Given the description of an element on the screen output the (x, y) to click on. 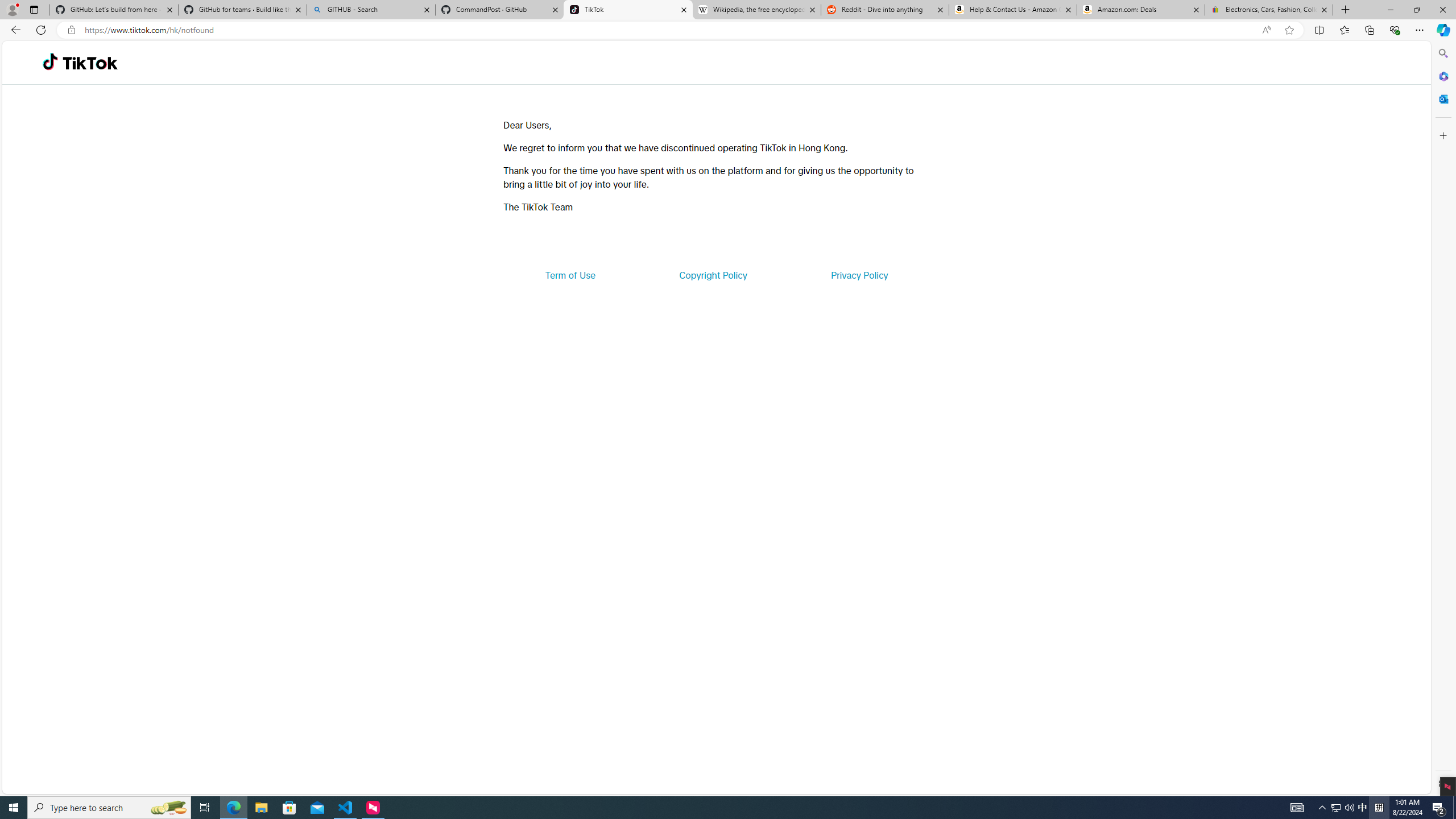
Help & Contact Us - Amazon Customer Service (1012, 9)
Reddit - Dive into anything (884, 9)
Copyright Policy (712, 274)
TikTok (89, 62)
